Given the description of an element on the screen output the (x, y) to click on. 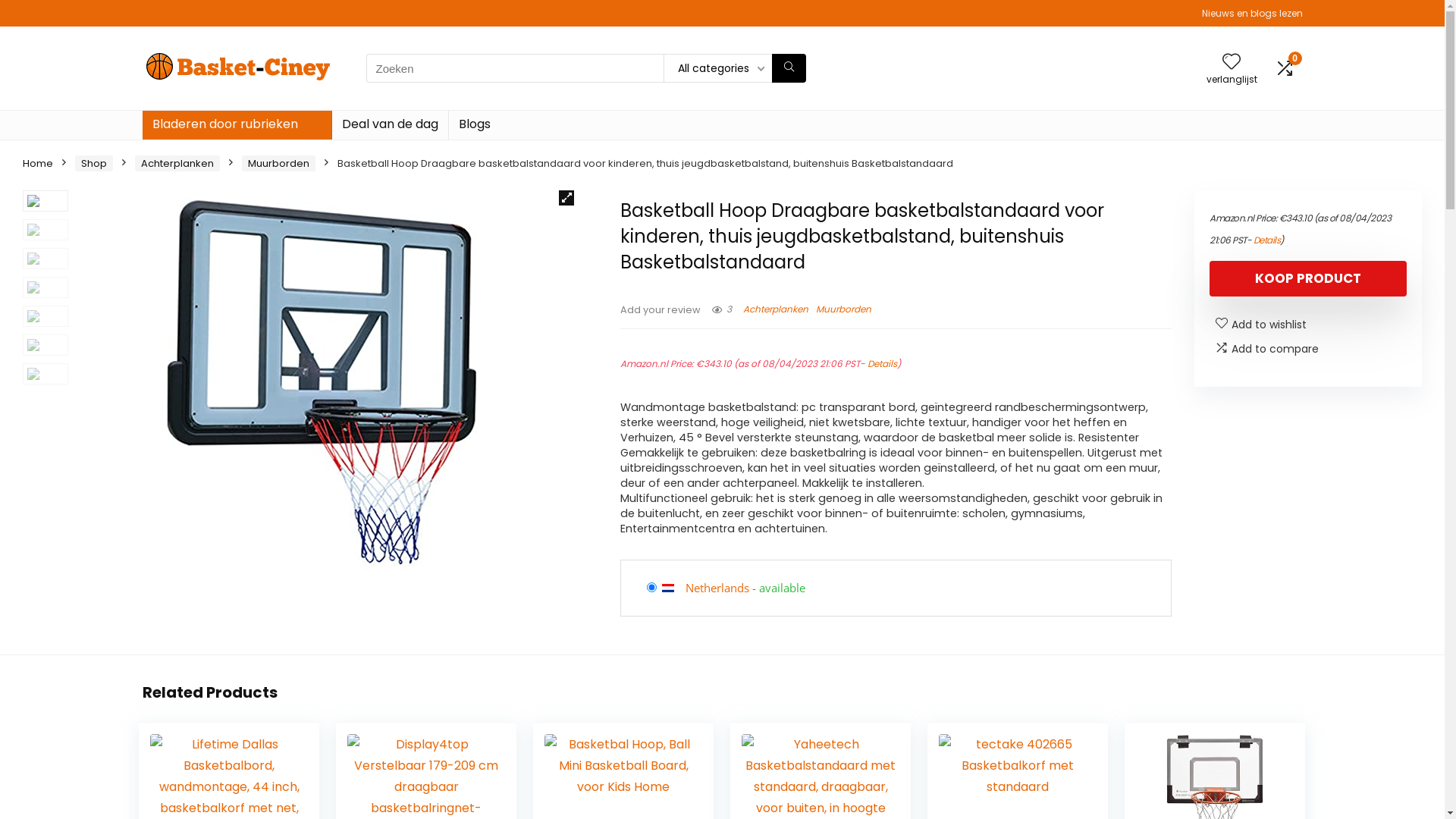
Details Element type: text (1266, 239)
Achterplanken Element type: text (775, 308)
Blogs Element type: text (474, 124)
Deal van de dag Element type: text (390, 124)
Nieuws en blogs lezen Element type: text (1251, 12)
Home Element type: text (37, 163)
Netherlands Element type: text (717, 587)
Bladeren door rubrieken Element type: text (236, 124)
KOOP PRODUCT Element type: text (1307, 278)
Shop Element type: text (93, 163)
Muurborden Element type: text (278, 163)
Netherlands Element type: hover (673, 587)
Achterplanken Element type: text (176, 163)
Details Element type: text (882, 363)
Muurborden Element type: text (843, 308)
